Given the description of an element on the screen output the (x, y) to click on. 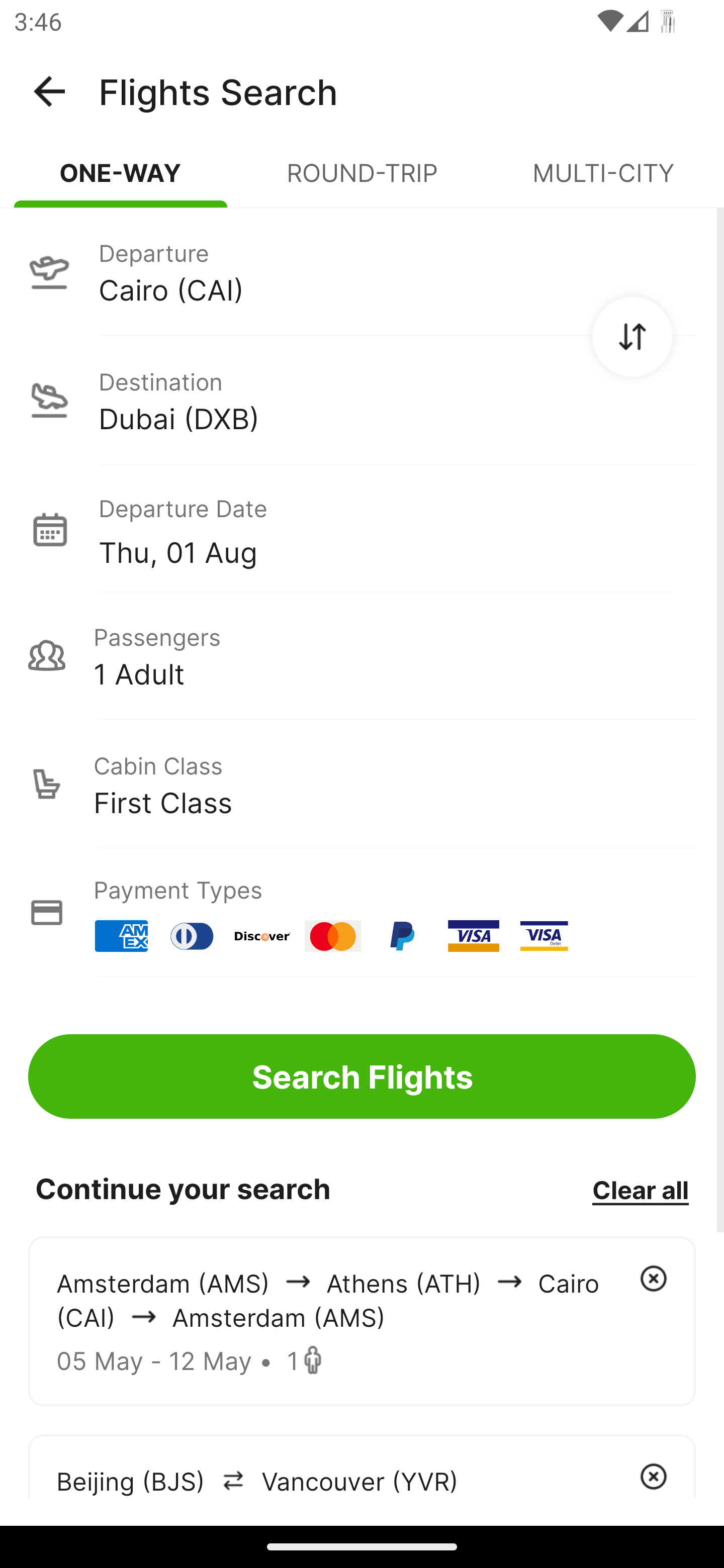
ONE-WAY (120, 180)
ROUND-TRIP (361, 180)
MULTI-CITY (603, 180)
Departure Cairo (CAI) (362, 270)
Destination Dubai (DXB) (362, 400)
Departure Date Thu, 01 Aug (396, 528)
Passengers 1 Adult (362, 655)
Cabin Class First Class (362, 783)
Payment Types (362, 912)
Search Flights (361, 1075)
Clear all (640, 1189)
Beijing (BJS)  arrowIcon  Vancouver (YVR) (361, 1465)
